Given the description of an element on the screen output the (x, y) to click on. 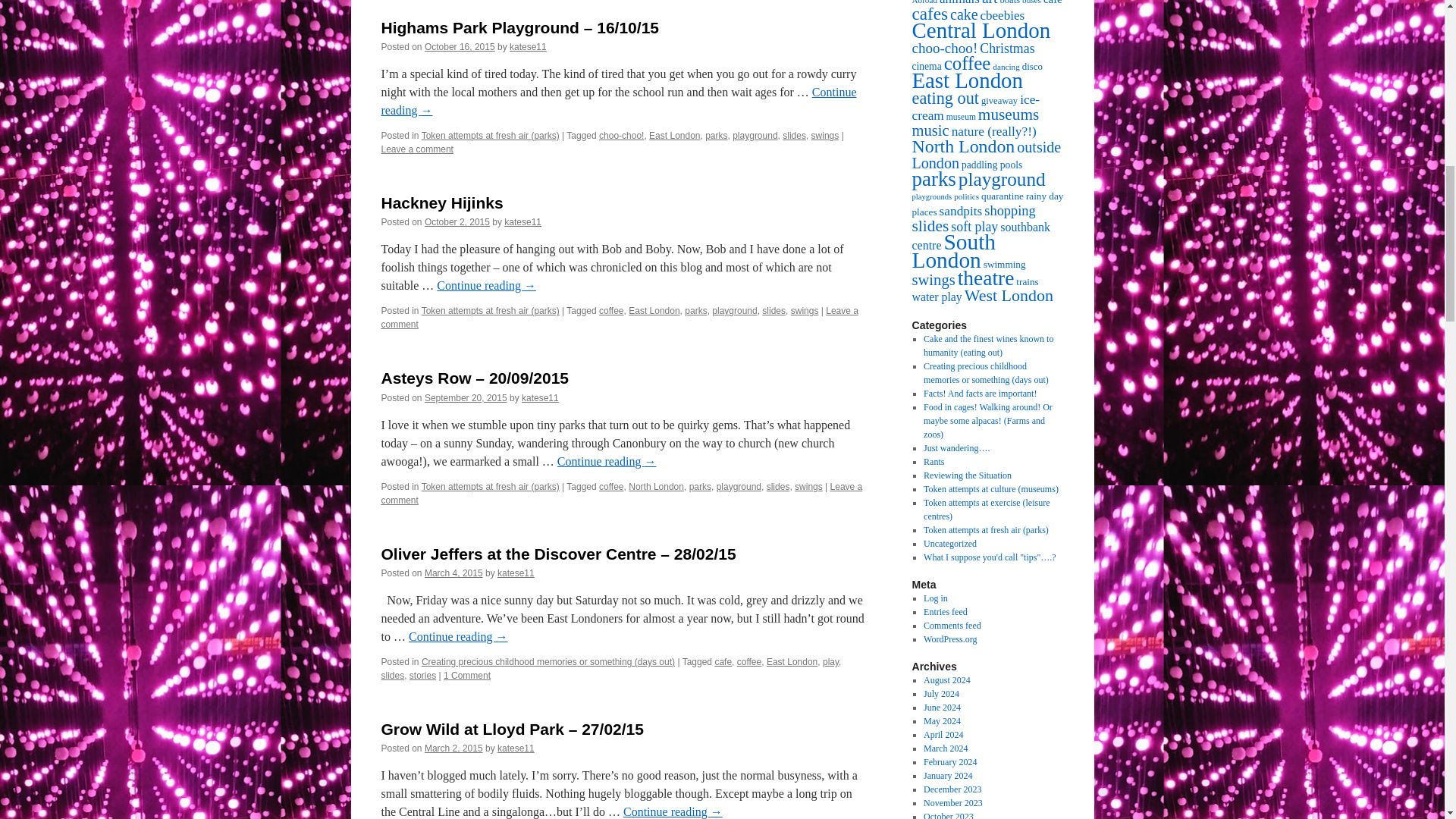
View all posts by katese11 (540, 398)
7:34 pm (457, 222)
7:00 pm (454, 573)
9:33 pm (465, 398)
View all posts by katese11 (515, 573)
View all posts by katese11 (528, 46)
10:07 pm (460, 46)
View all posts by katese11 (522, 222)
